Given the description of an element on the screen output the (x, y) to click on. 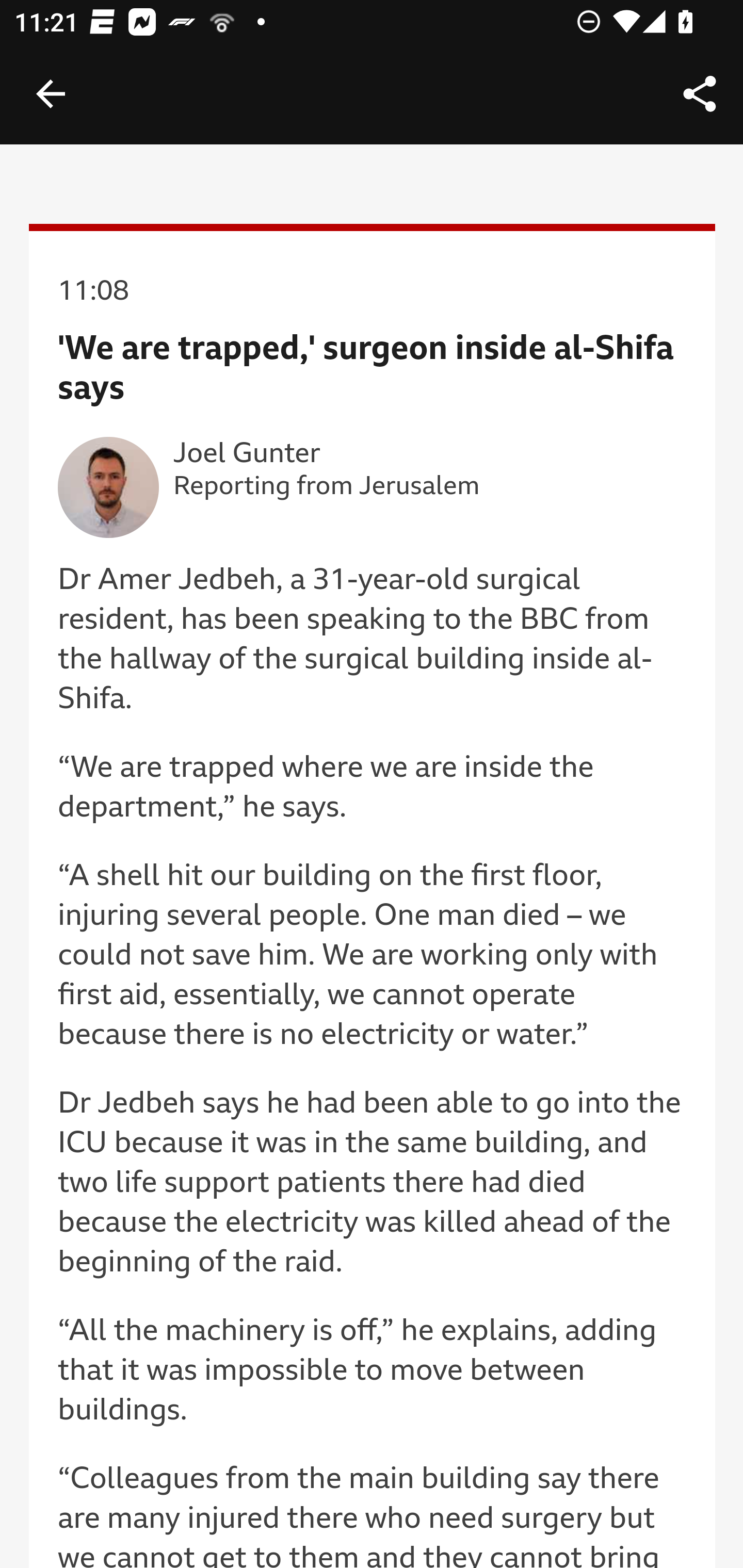
Back (50, 93)
Share (699, 93)
